Given the description of an element on the screen output the (x, y) to click on. 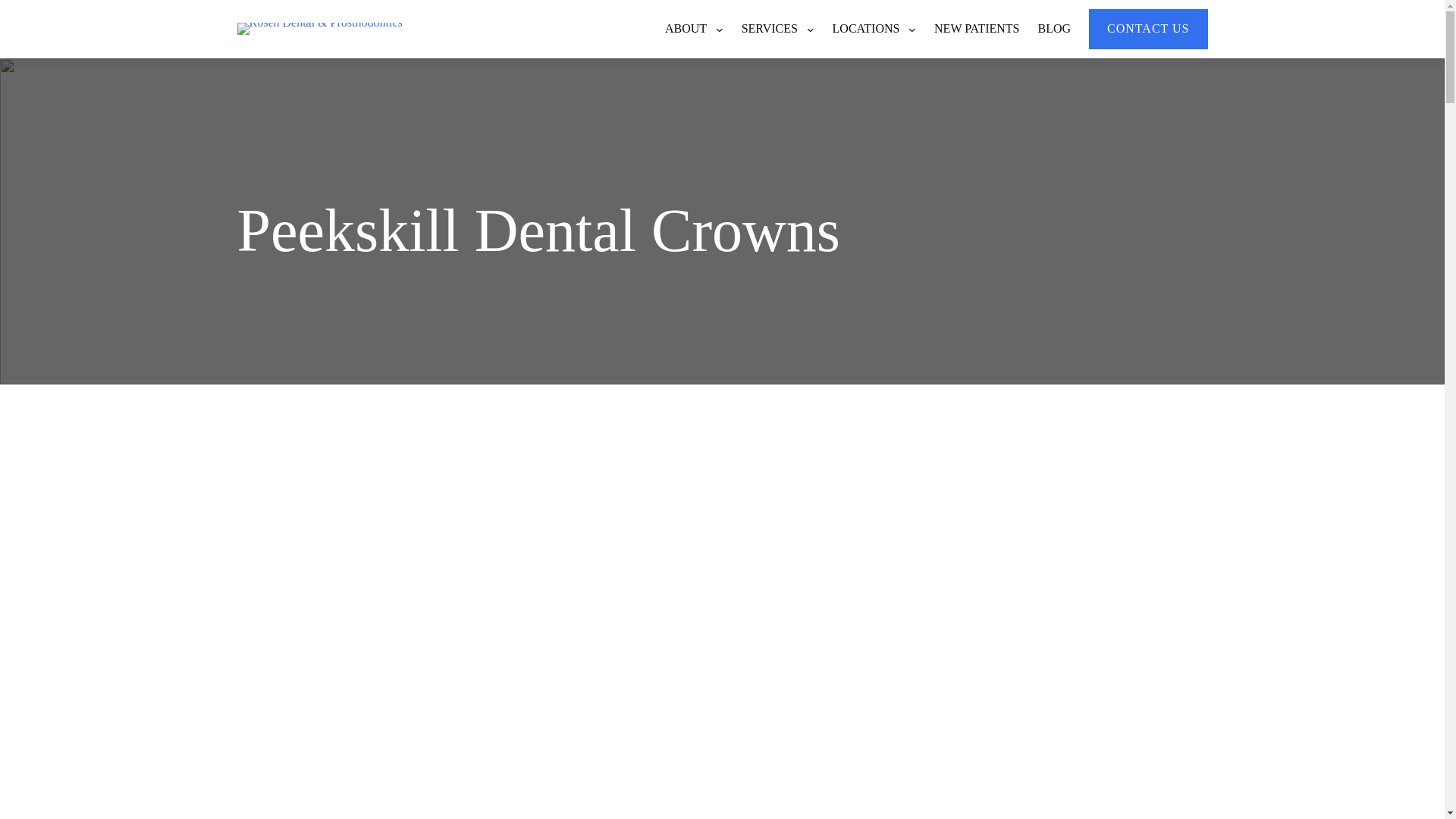
SERVICES (772, 29)
ABOUT (689, 29)
